Given the description of an element on the screen output the (x, y) to click on. 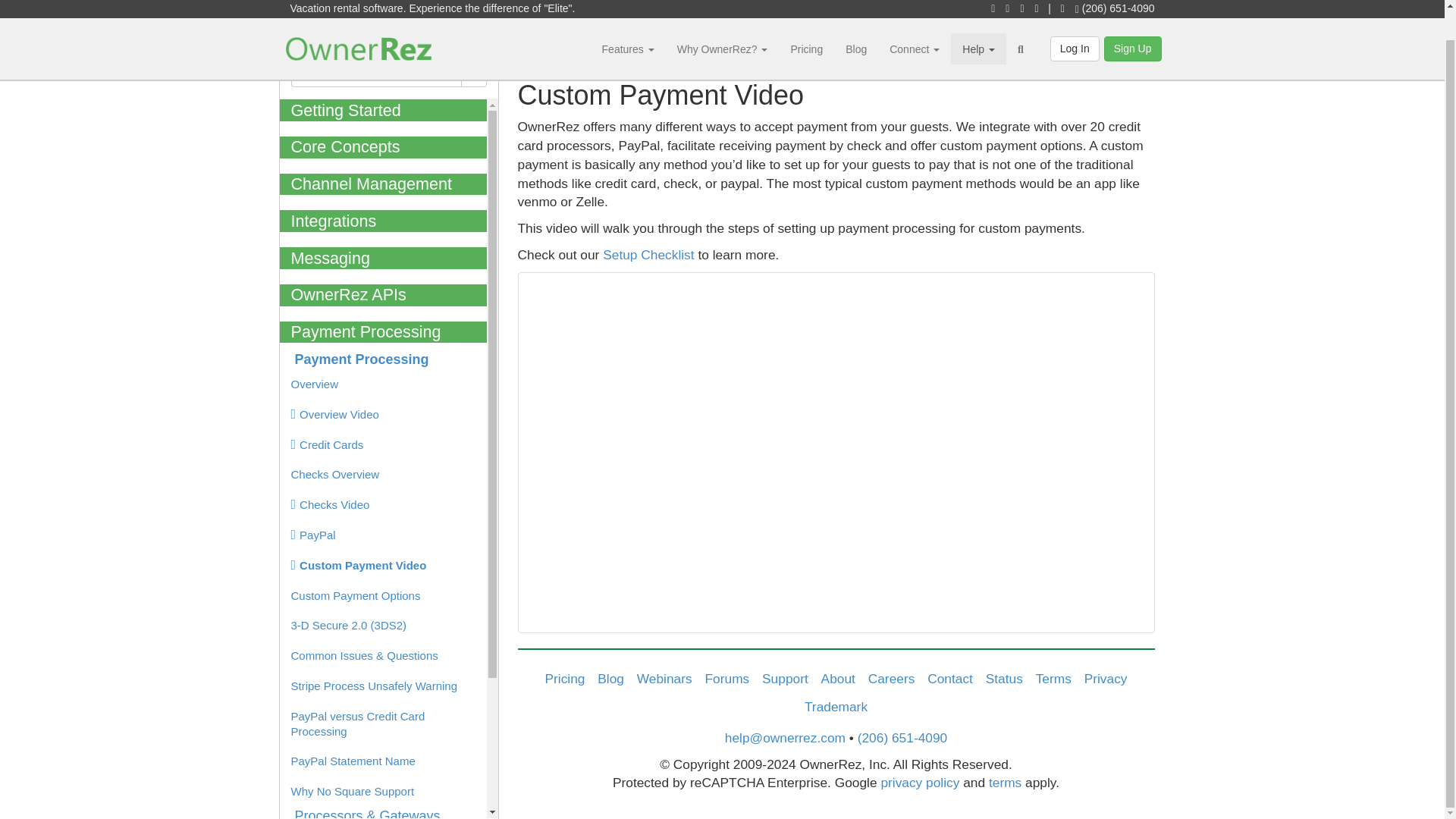
Log In (1074, 17)
Sign Up (1132, 17)
Features (628, 17)
Pricing (806, 17)
Connect (913, 17)
All (441, 73)
Blog (855, 17)
Why OwnerRez? (721, 17)
